Given the description of an element on the screen output the (x, y) to click on. 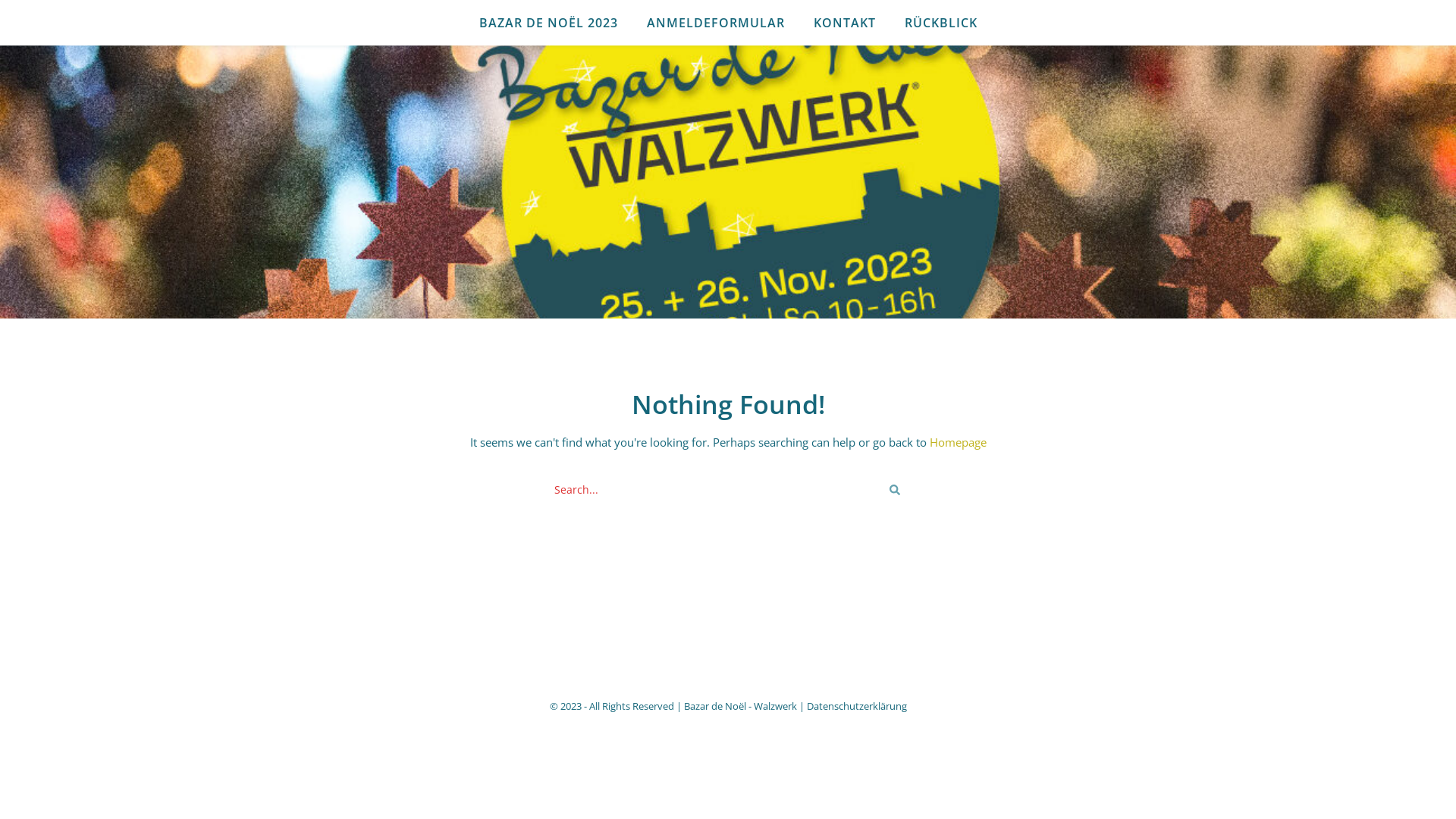
Homepage Element type: text (957, 441)
st Element type: text (894, 489)
ANMELDEFORMULAR Element type: text (715, 22)
KONTAKT Element type: text (844, 22)
